Given the description of an element on the screen output the (x, y) to click on. 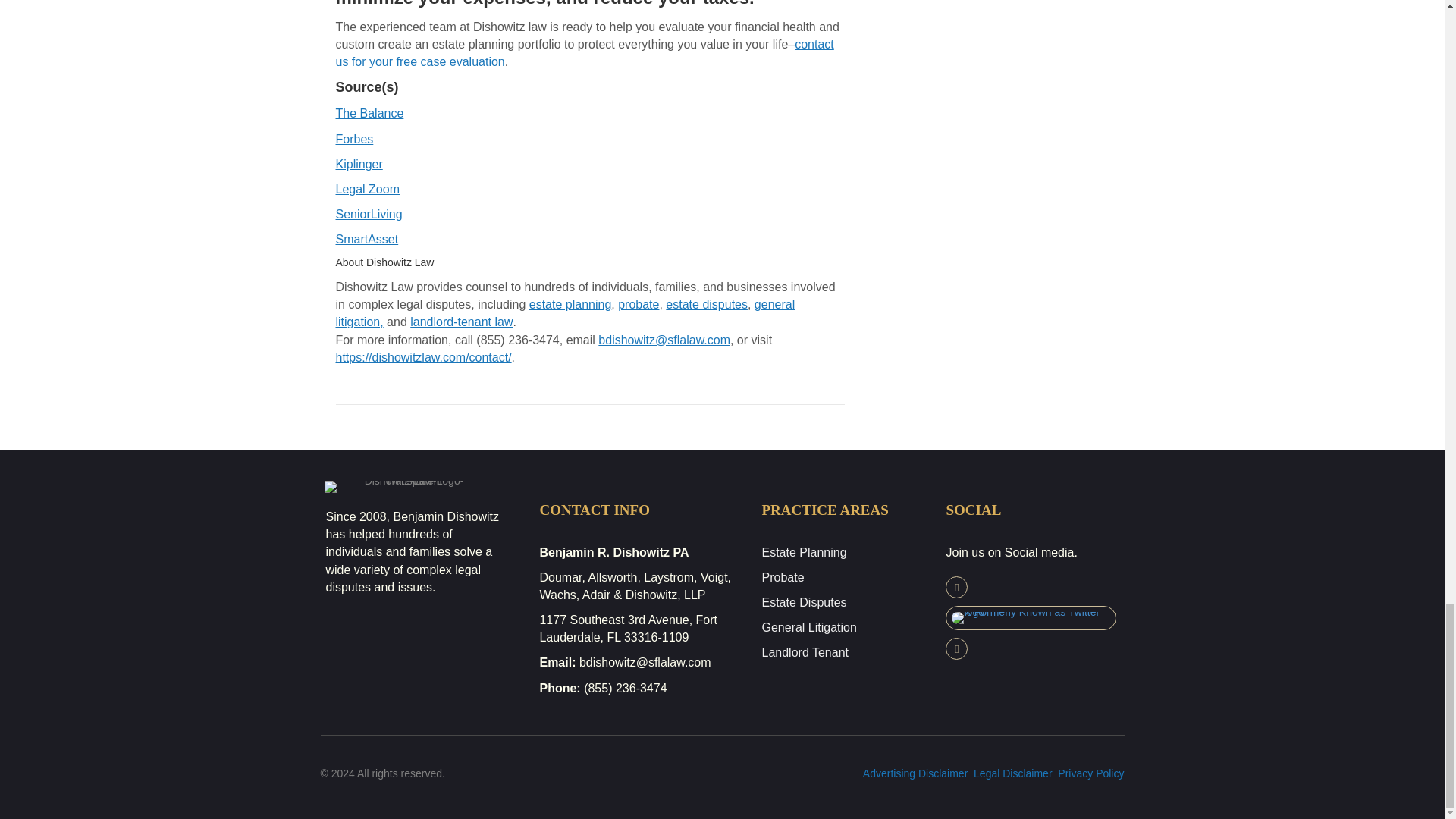
SeniorLiving (367, 214)
X Logo (1030, 617)
SmartAsset (365, 238)
Dishowitz-Law-Logo-Transparent (408, 486)
Kiplinger (357, 164)
estate disputes (706, 304)
The Balance (368, 113)
Forbes (353, 138)
general litigation, (564, 313)
contact us for your free case evaluation (583, 52)
Legal Zoom (366, 188)
landlord-tenant law (461, 321)
estate planning (570, 304)
probate (638, 304)
